Given the description of an element on the screen output the (x, y) to click on. 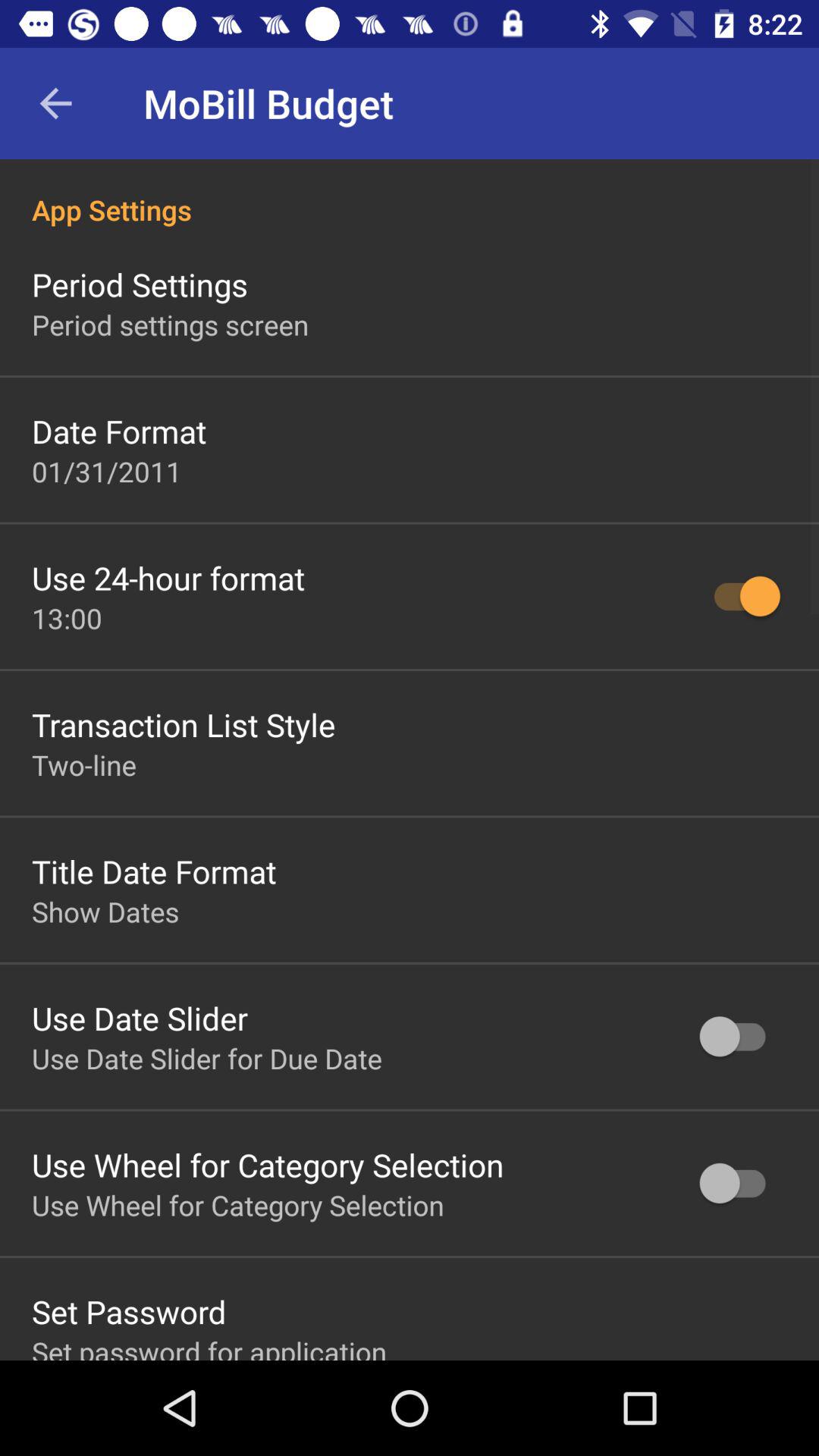
open the icon next to the mobill budget icon (55, 103)
